Given the description of an element on the screen output the (x, y) to click on. 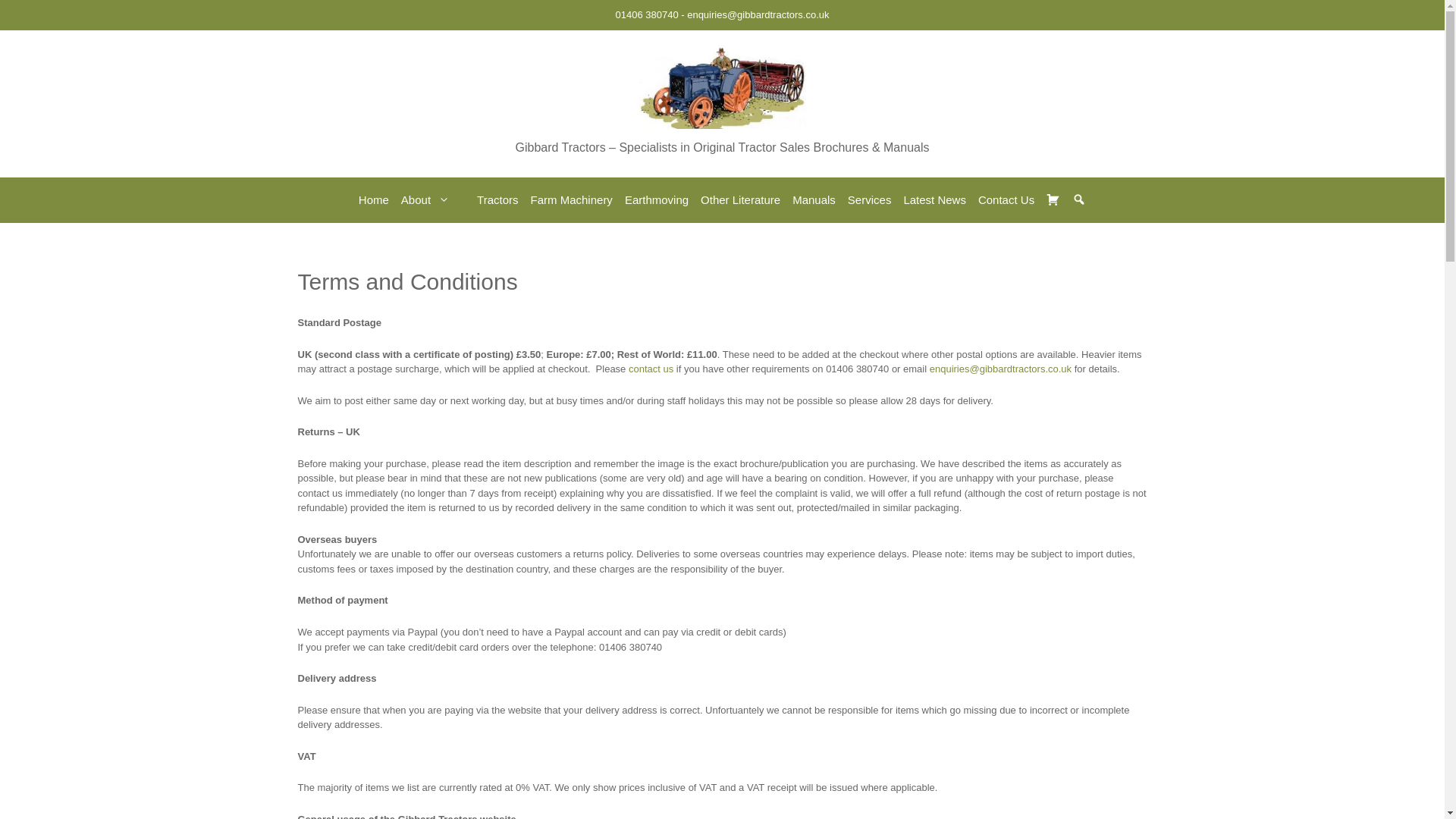
Latest News (934, 199)
Tractors (497, 199)
About (432, 199)
Manuals (813, 199)
Home (373, 199)
Earthmoving (656, 199)
Farm Machinery (571, 199)
Other Literature (740, 199)
Contact Us (1006, 199)
Services (869, 199)
contact us (650, 368)
